Given the description of an element on the screen output the (x, y) to click on. 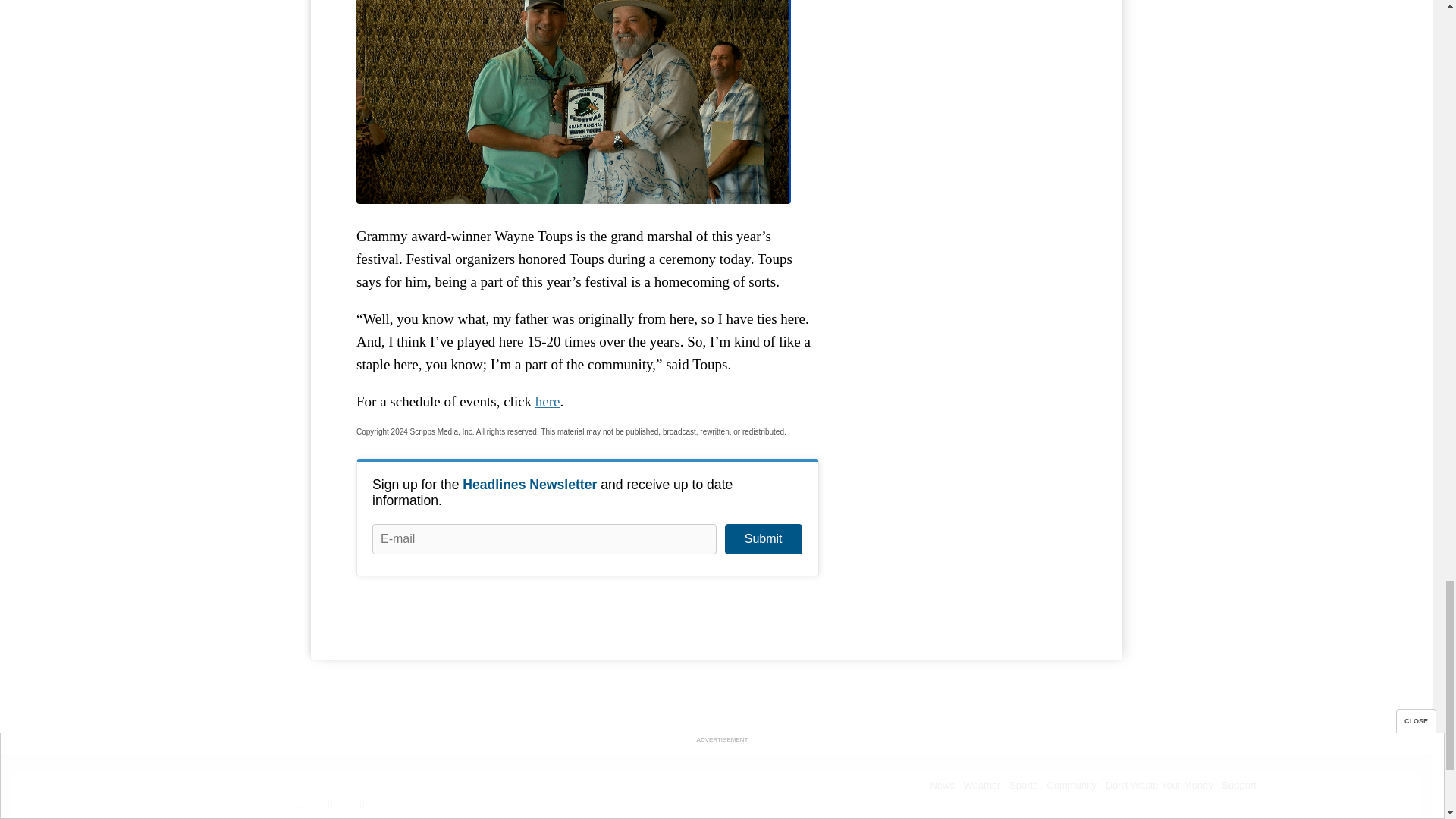
Submit (763, 539)
